Given the description of an element on the screen output the (x, y) to click on. 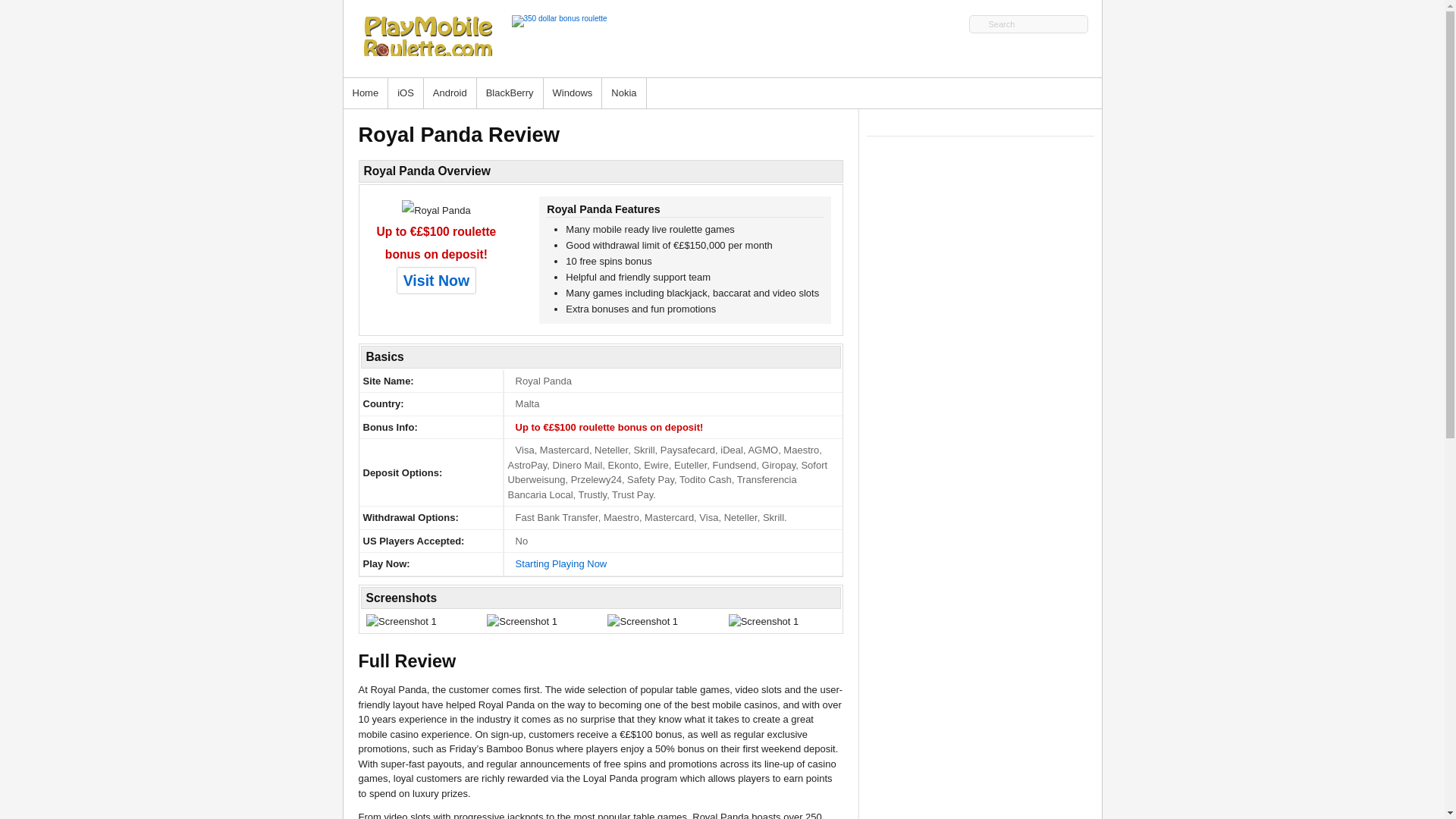
Home (365, 92)
Search (1028, 24)
iOS (405, 92)
Starting Playing Now (561, 563)
Windows (572, 92)
Android (450, 92)
Visit Now (436, 280)
Nokia (624, 92)
Search (1028, 24)
BlackBerry (510, 92)
